Given the description of an element on the screen output the (x, y) to click on. 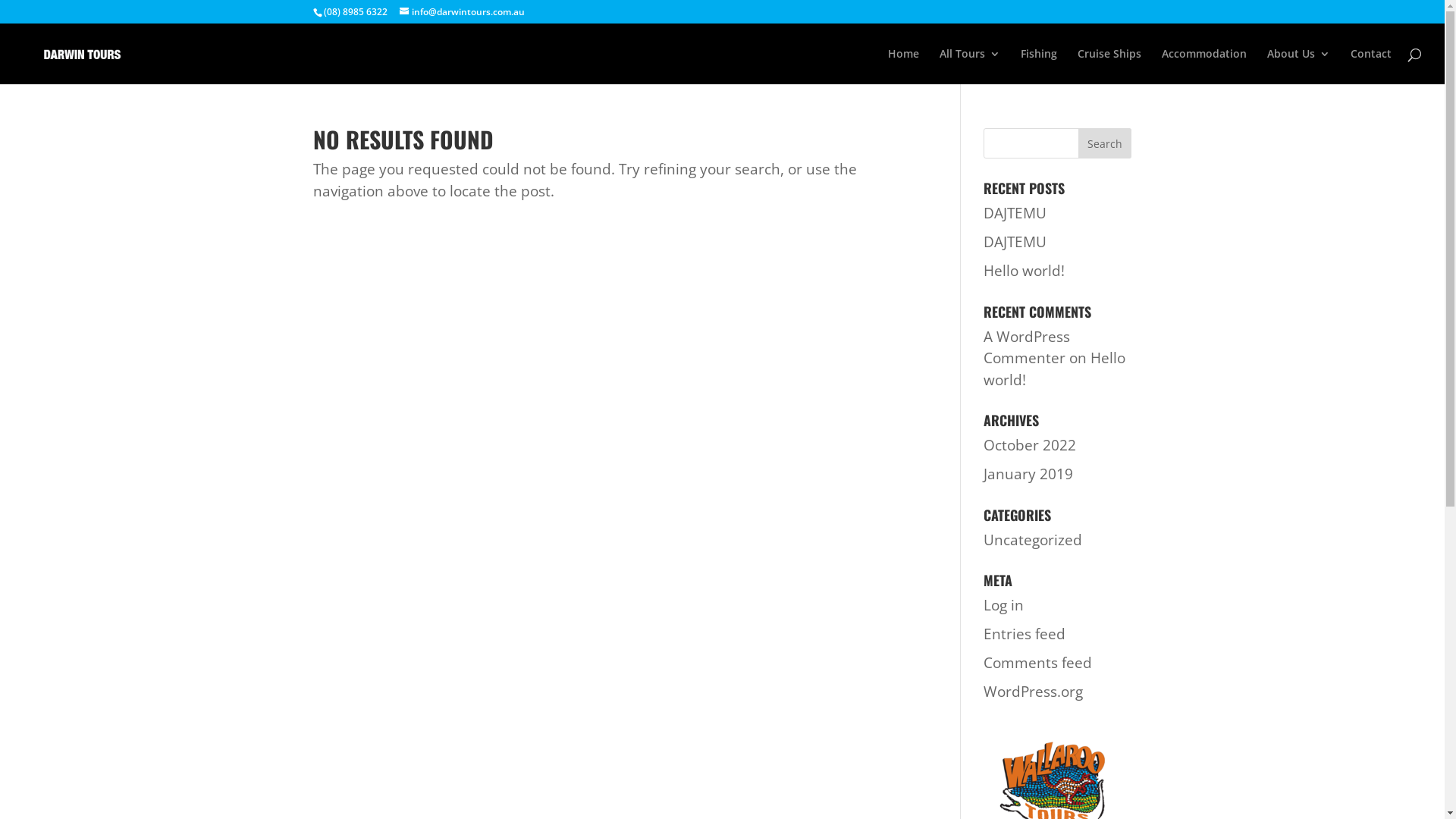
Home Element type: text (903, 66)
January 2019 Element type: text (1028, 473)
October 2022 Element type: text (1029, 445)
Hello world! Element type: text (1023, 270)
Search Element type: text (1104, 143)
Hello world! Element type: text (1054, 368)
Entries feed Element type: text (1024, 633)
About Us Element type: text (1298, 66)
Fishing Element type: text (1038, 66)
Log in Element type: text (1003, 605)
Comments feed Element type: text (1037, 662)
Accommodation Element type: text (1203, 66)
DAJTEMU Element type: text (1014, 241)
Uncategorized Element type: text (1032, 539)
DAJTEMU Element type: text (1014, 212)
info@darwintours.com.au Element type: text (461, 11)
WordPress.org Element type: text (1032, 691)
Cruise Ships Element type: text (1109, 66)
Contact Element type: text (1370, 66)
All Tours Element type: text (969, 66)
A WordPress Commenter Element type: text (1026, 346)
